Given the description of an element on the screen output the (x, y) to click on. 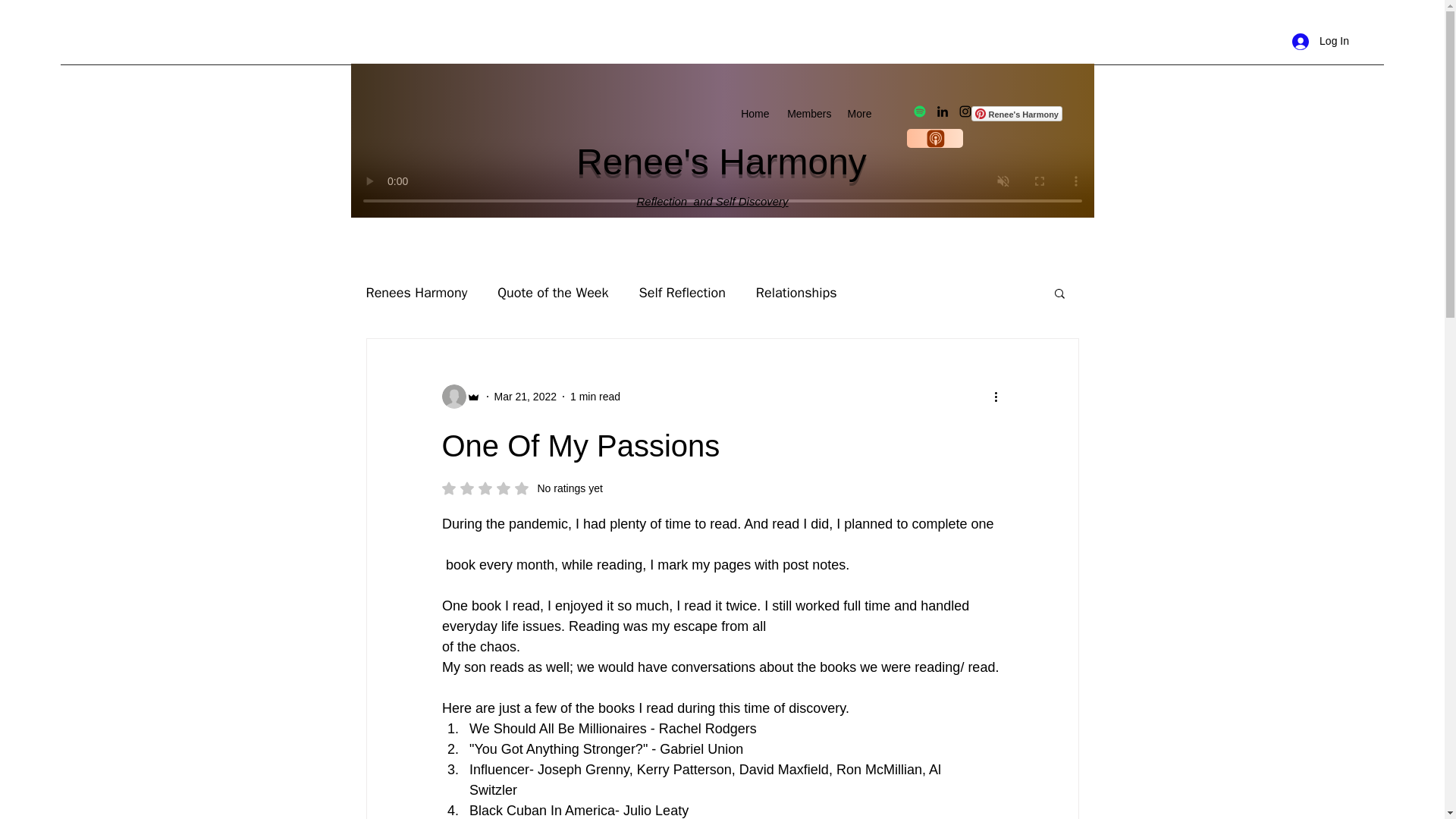
Reflection  and Self Discovery (713, 201)
Mar 21, 2022 (526, 395)
1 min read (595, 395)
Renee's Harmony (1016, 113)
Log In (1320, 41)
Relationships (796, 292)
Members (807, 113)
Home (754, 113)
Quote of the Week (521, 488)
Self Reflection (552, 292)
Renee's Harmony (682, 292)
Renees Harmony (1016, 113)
